Given the description of an element on the screen output the (x, y) to click on. 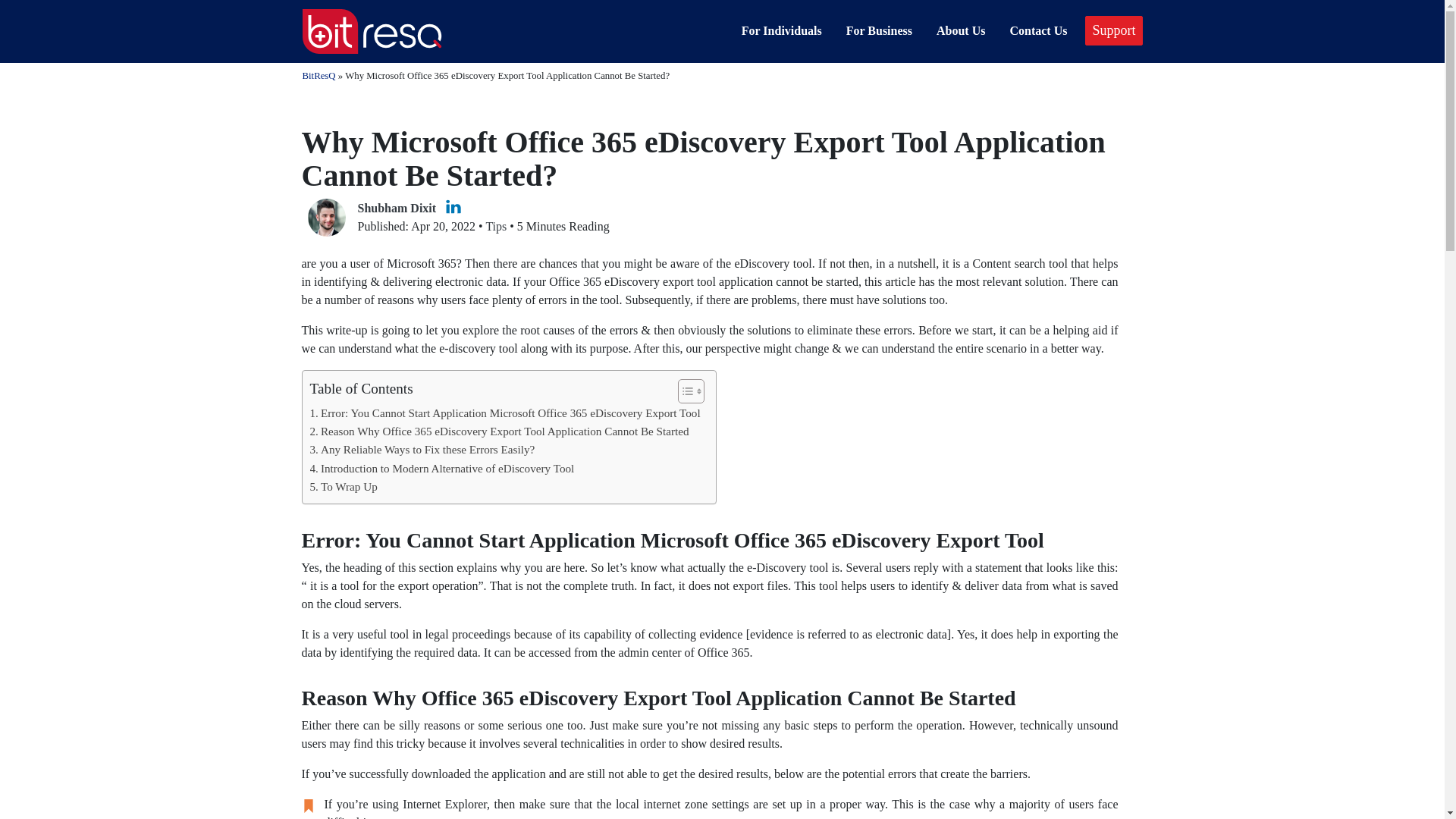
Shubham Dixit (397, 207)
BitResQ (317, 75)
For Business (879, 30)
Introduction to Modern Alternative of eDiscovery Tool (440, 468)
About Us (960, 30)
Support (1112, 30)
Introduction to Modern Alternative of eDiscovery Tool (440, 468)
For Individuals (781, 30)
